Given the description of an element on the screen output the (x, y) to click on. 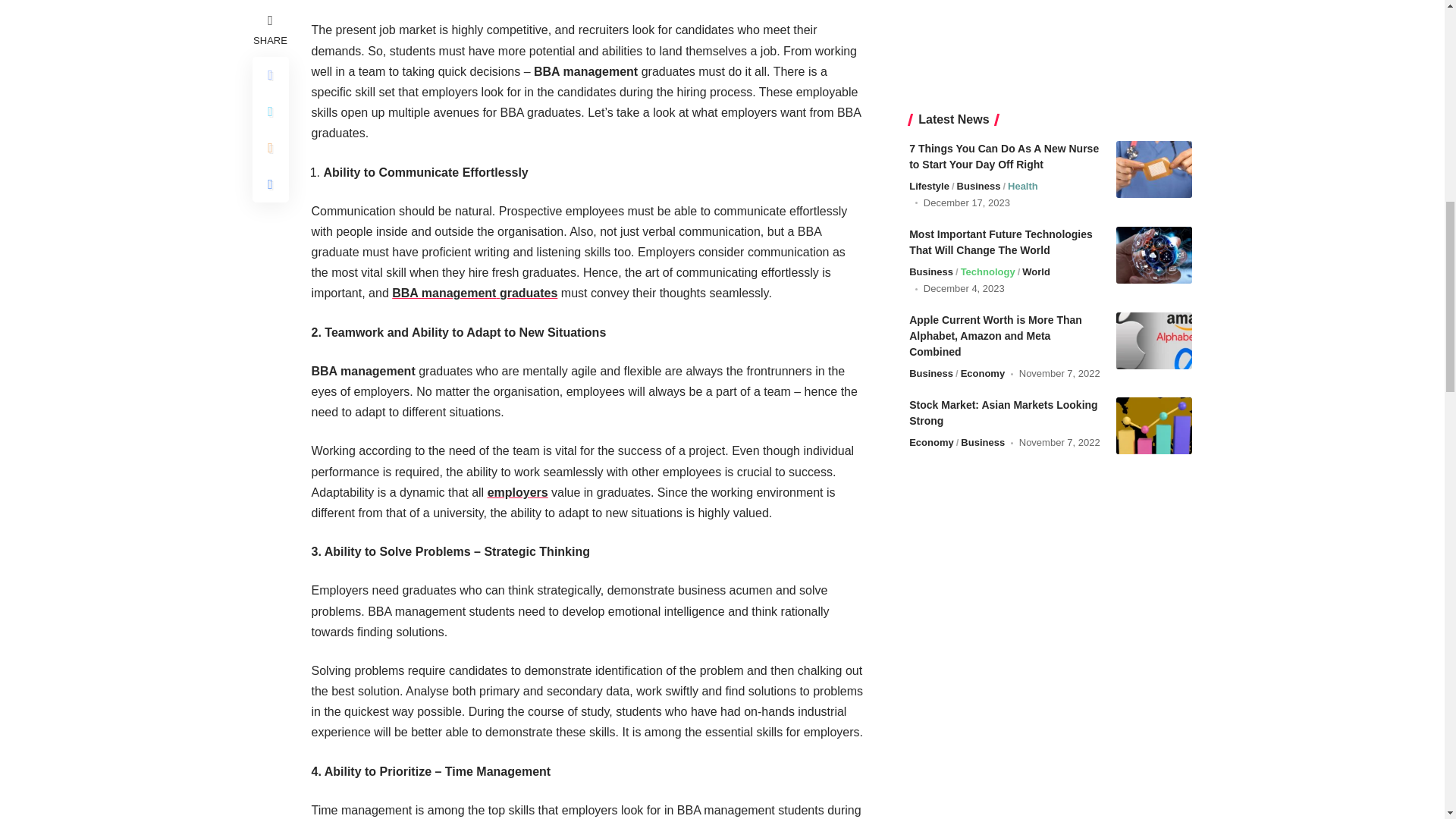
Stock Market: Asian Markets Looking Strong (1154, 276)
